Given the description of an element on the screen output the (x, y) to click on. 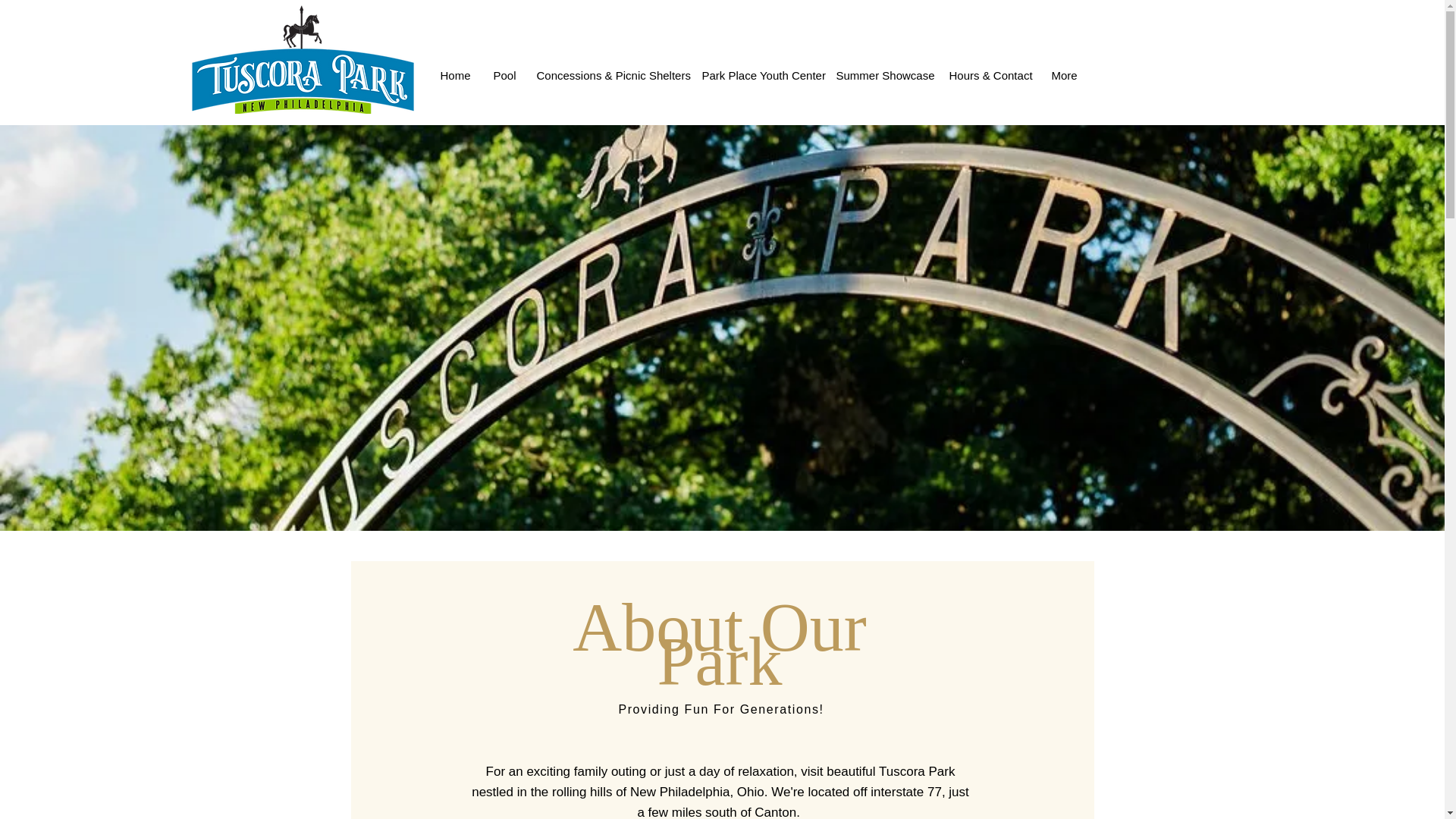
Park Place Youth Center (757, 75)
Home (455, 75)
Summer Showcase (880, 75)
Pool (502, 75)
